Given the description of an element on the screen output the (x, y) to click on. 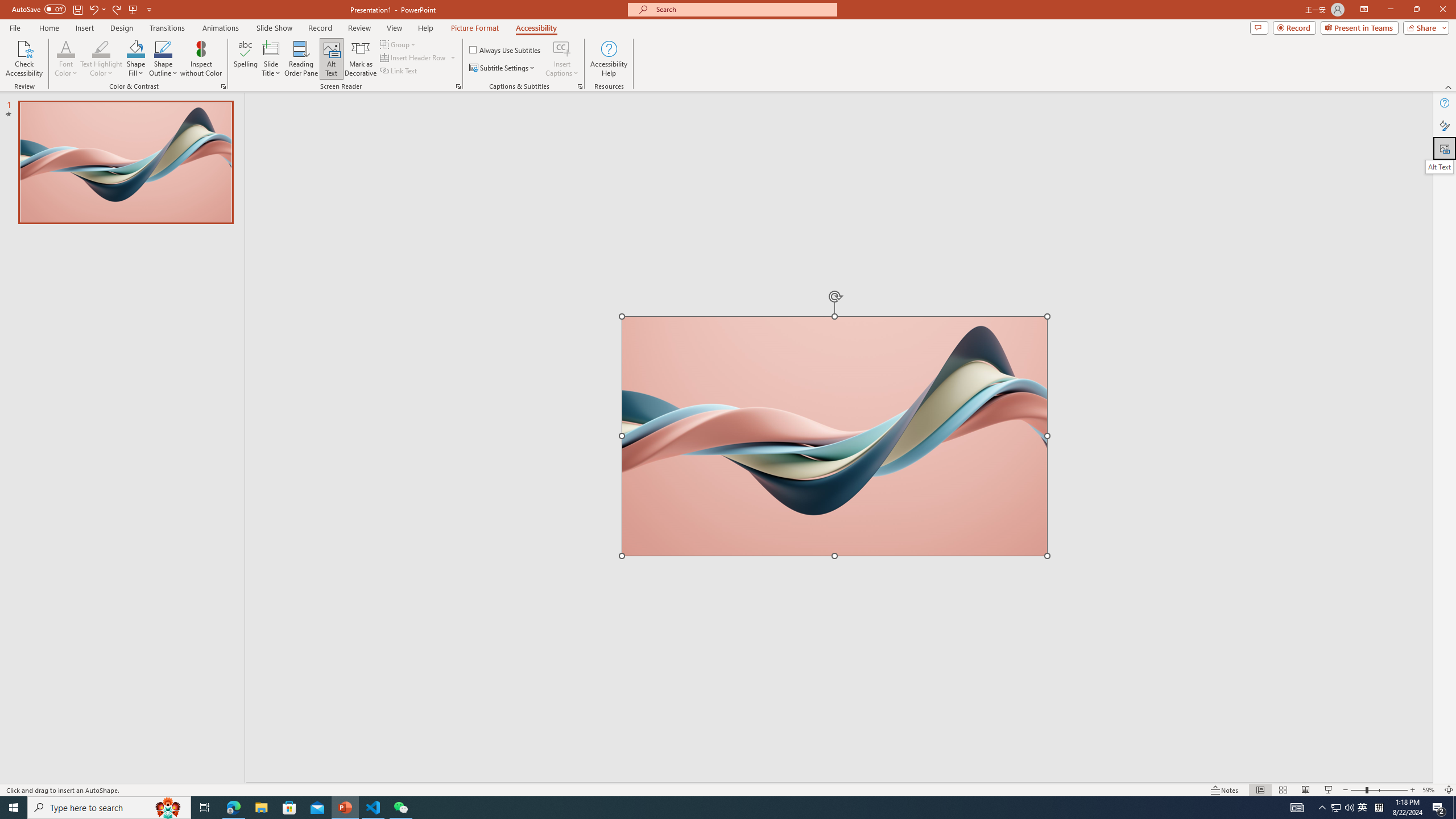
Wavy 3D art (833, 435)
Format Picture (1444, 125)
Screen Reader (458, 85)
